Given the description of an element on the screen output the (x, y) to click on. 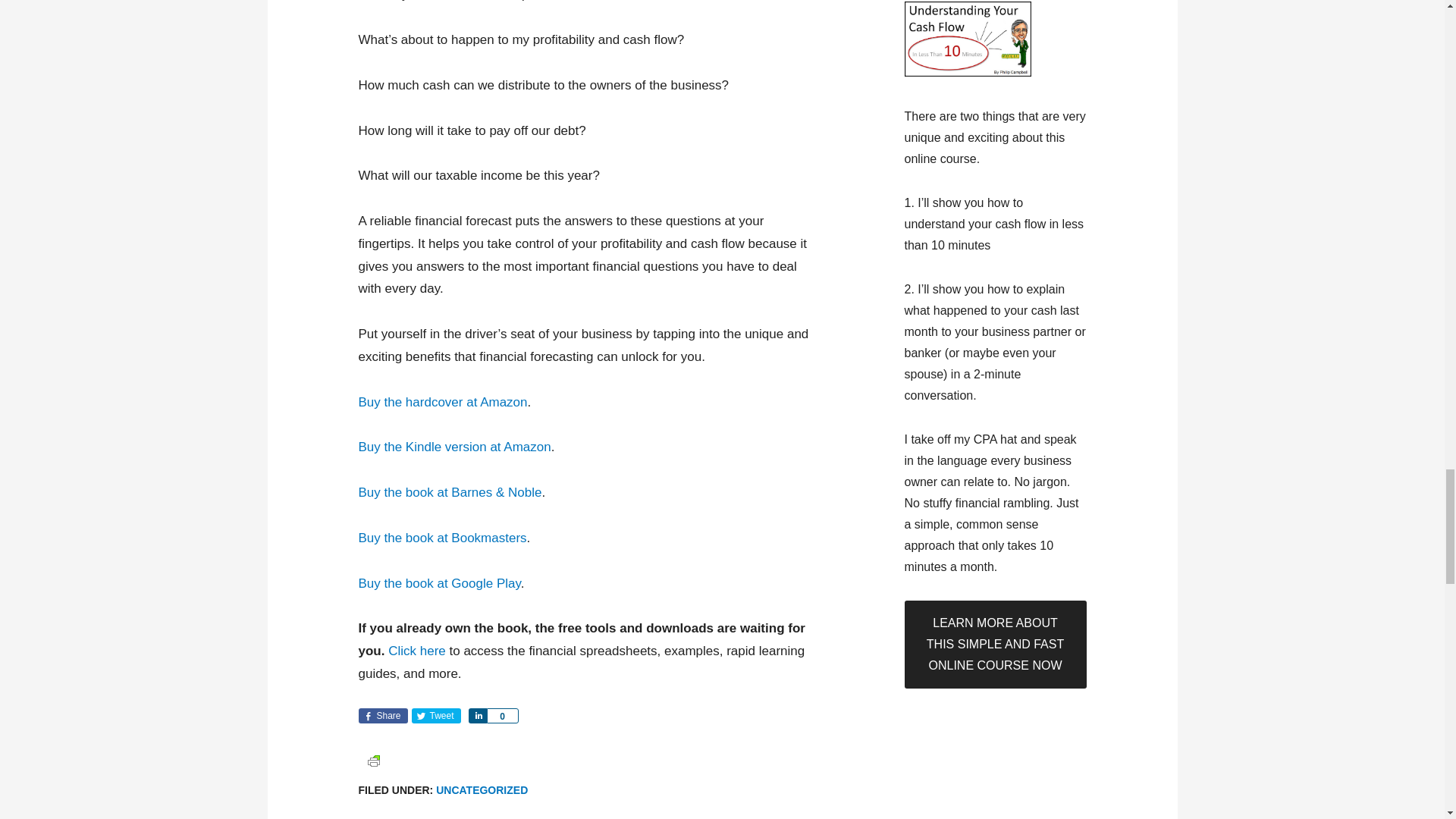
0 (502, 715)
Tweet (435, 715)
Click here (416, 650)
Buy the hardcover at Amazon (442, 401)
Buy the book at Google Play (438, 583)
Share (382, 715)
UNCATEGORIZED (481, 789)
Buy the book at Bookmasters (441, 537)
Buy the Kindle version at Amazon (454, 446)
Share (477, 715)
